Given the description of an element on the screen output the (x, y) to click on. 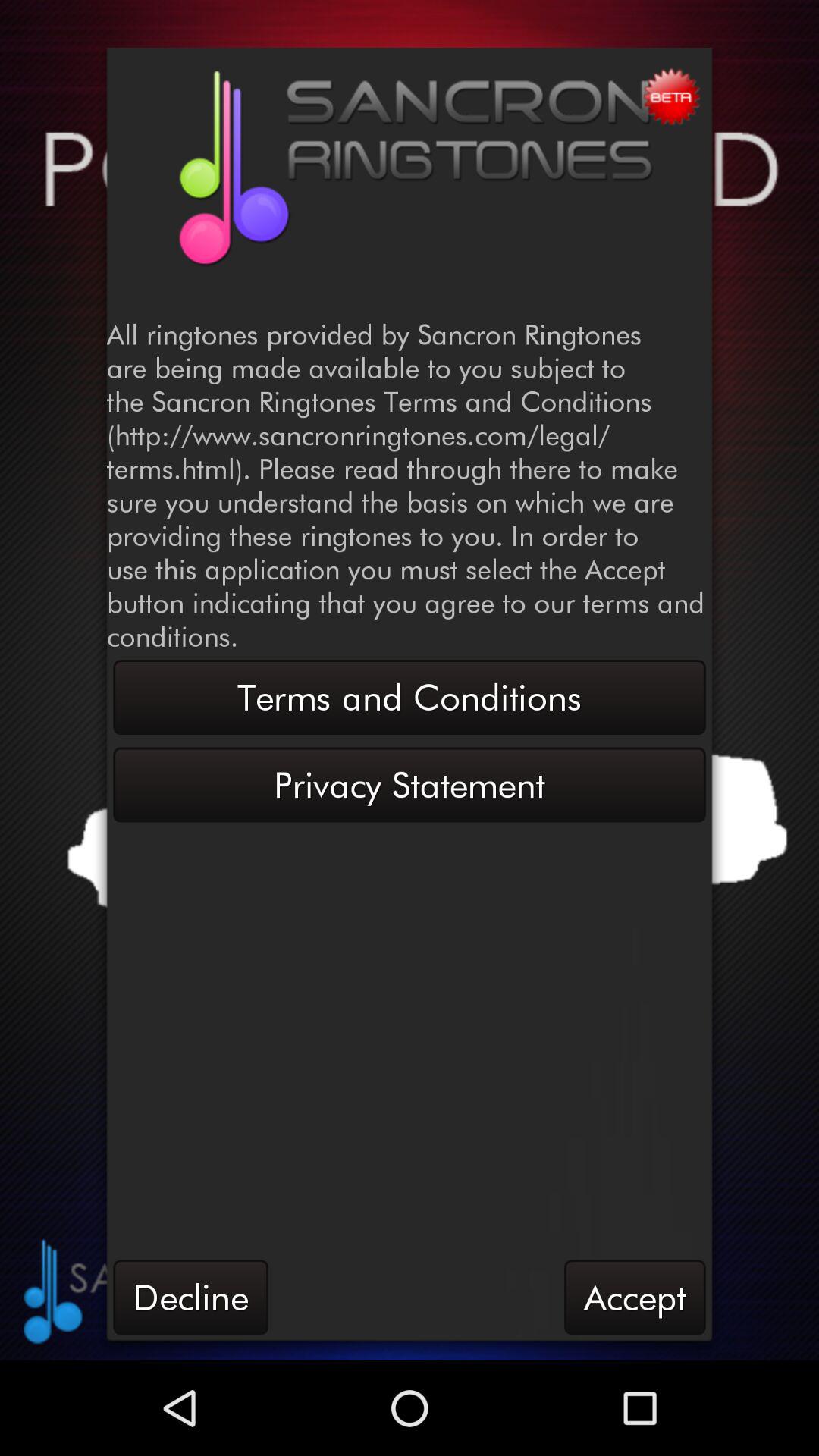
tap the privacy statement button (409, 784)
